Given the description of an element on the screen output the (x, y) to click on. 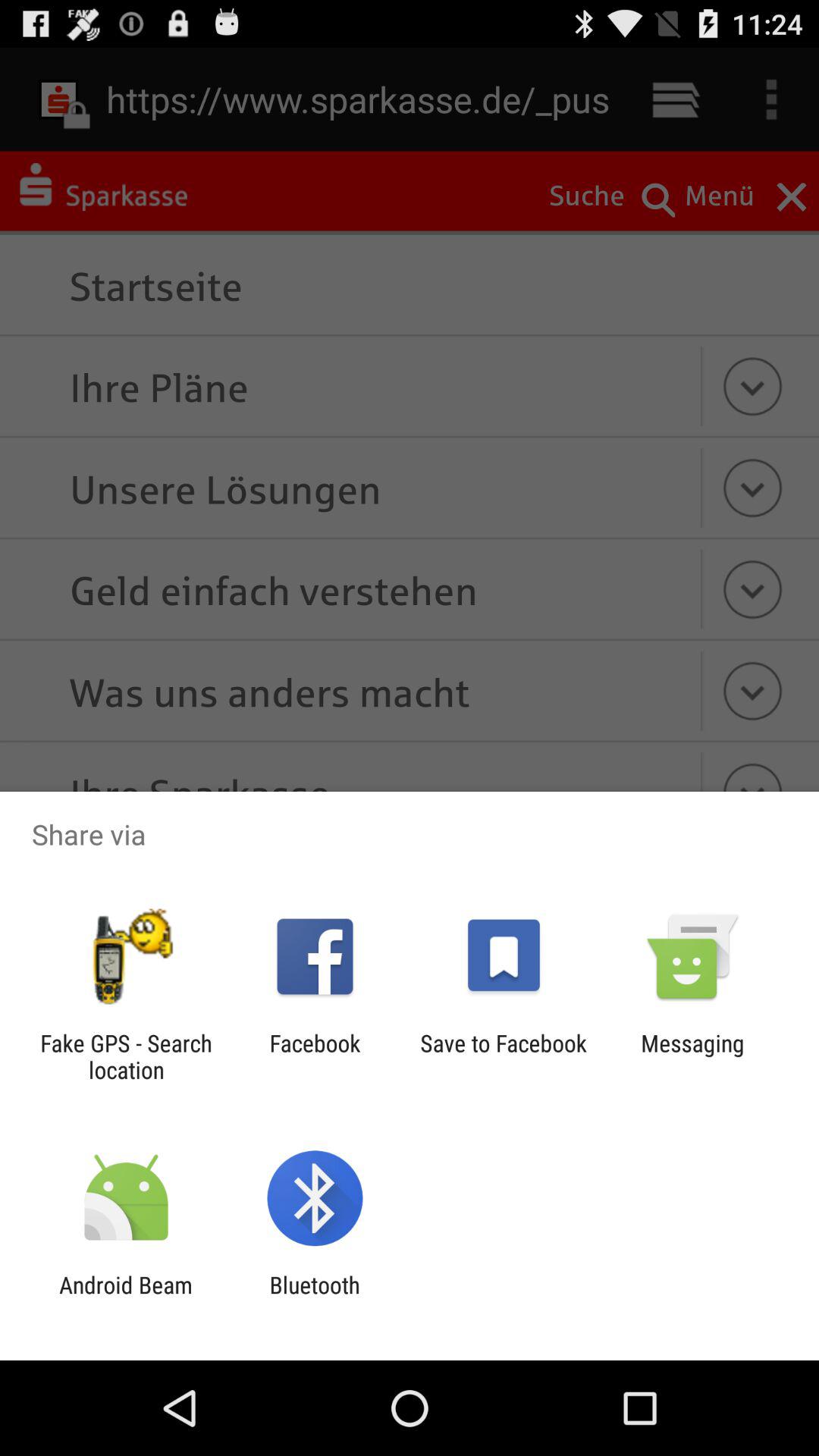
choose the icon to the left of the bluetooth (125, 1298)
